Given the description of an element on the screen output the (x, y) to click on. 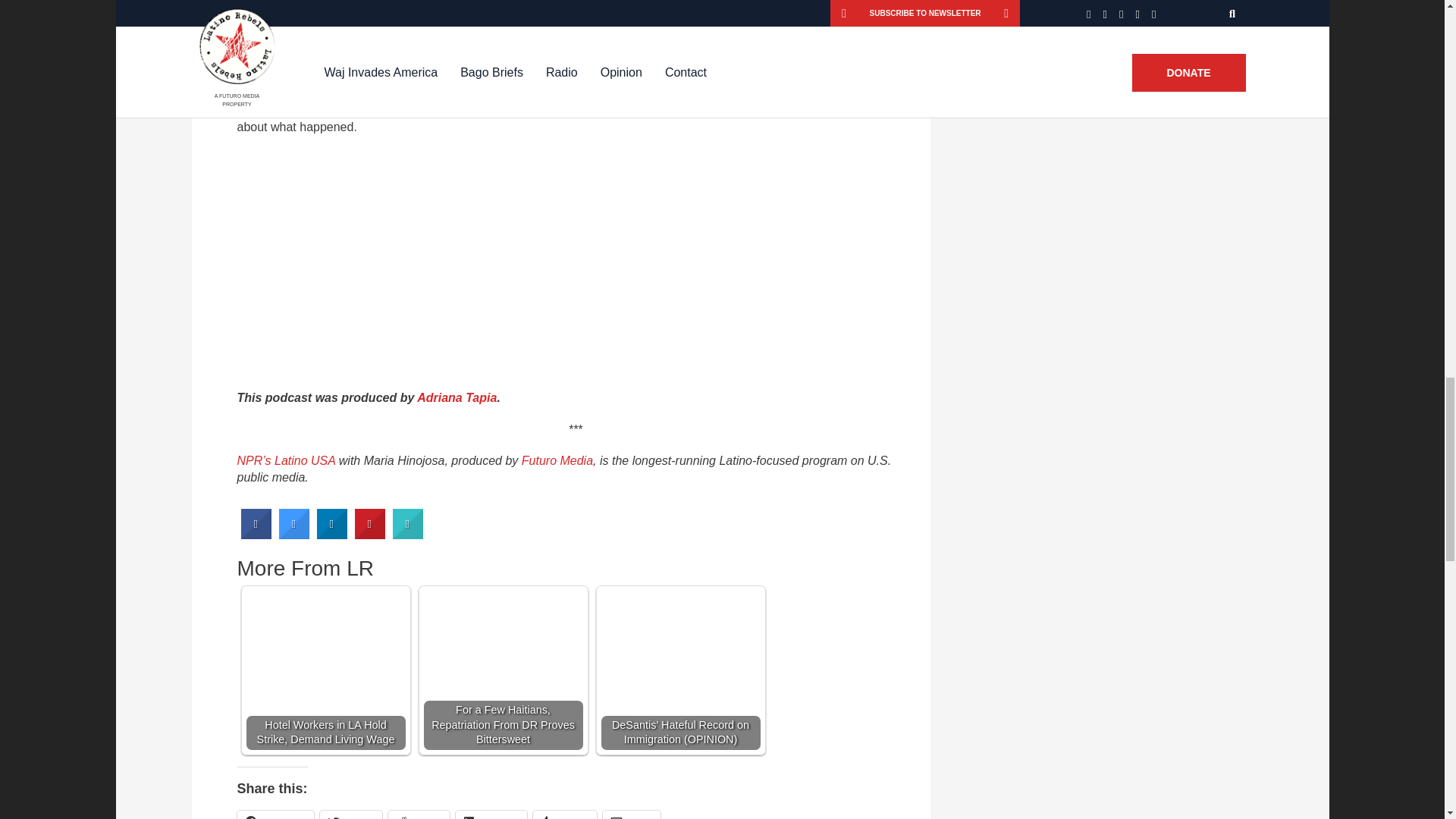
Share to LinkedIn (332, 534)
Click to share on Facebook (274, 814)
Share on Facebook (255, 534)
Click to share on LinkedIn (490, 814)
Reddit (418, 814)
Hotel Workers in LA Hold Strike, Demand Living Wage (325, 670)
Print this page (408, 534)
Tumblr (564, 814)
Twitter (350, 814)
Click to share on Tumblr (564, 814)
Share on Pinterest (370, 534)
Click to share on Reddit (418, 814)
Futuro Media (556, 460)
Click to email a link to a friend (631, 814)
LinkedIn (490, 814)
